Given the description of an element on the screen output the (x, y) to click on. 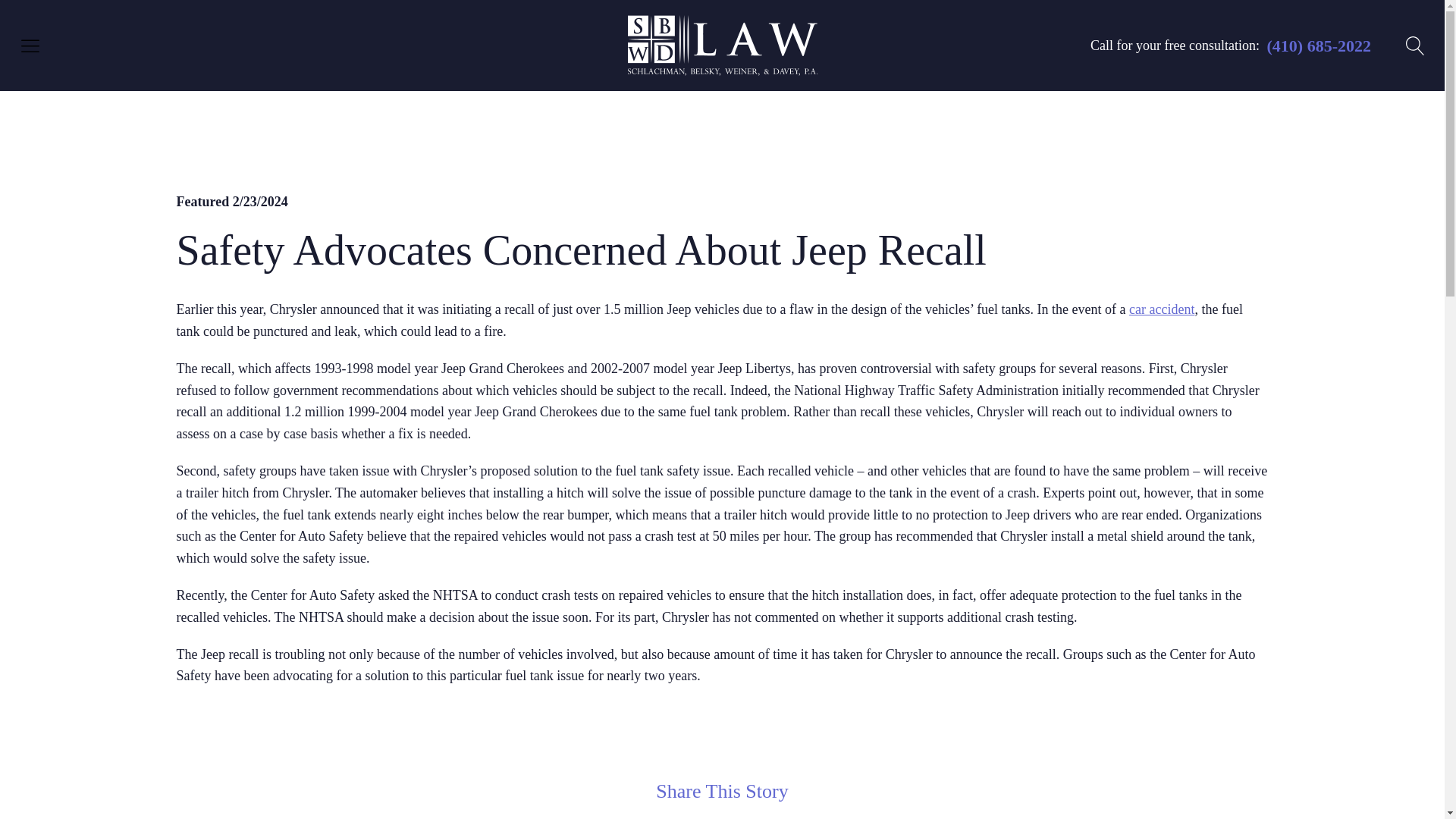
car accident (1161, 309)
